Given the description of an element on the screen output the (x, y) to click on. 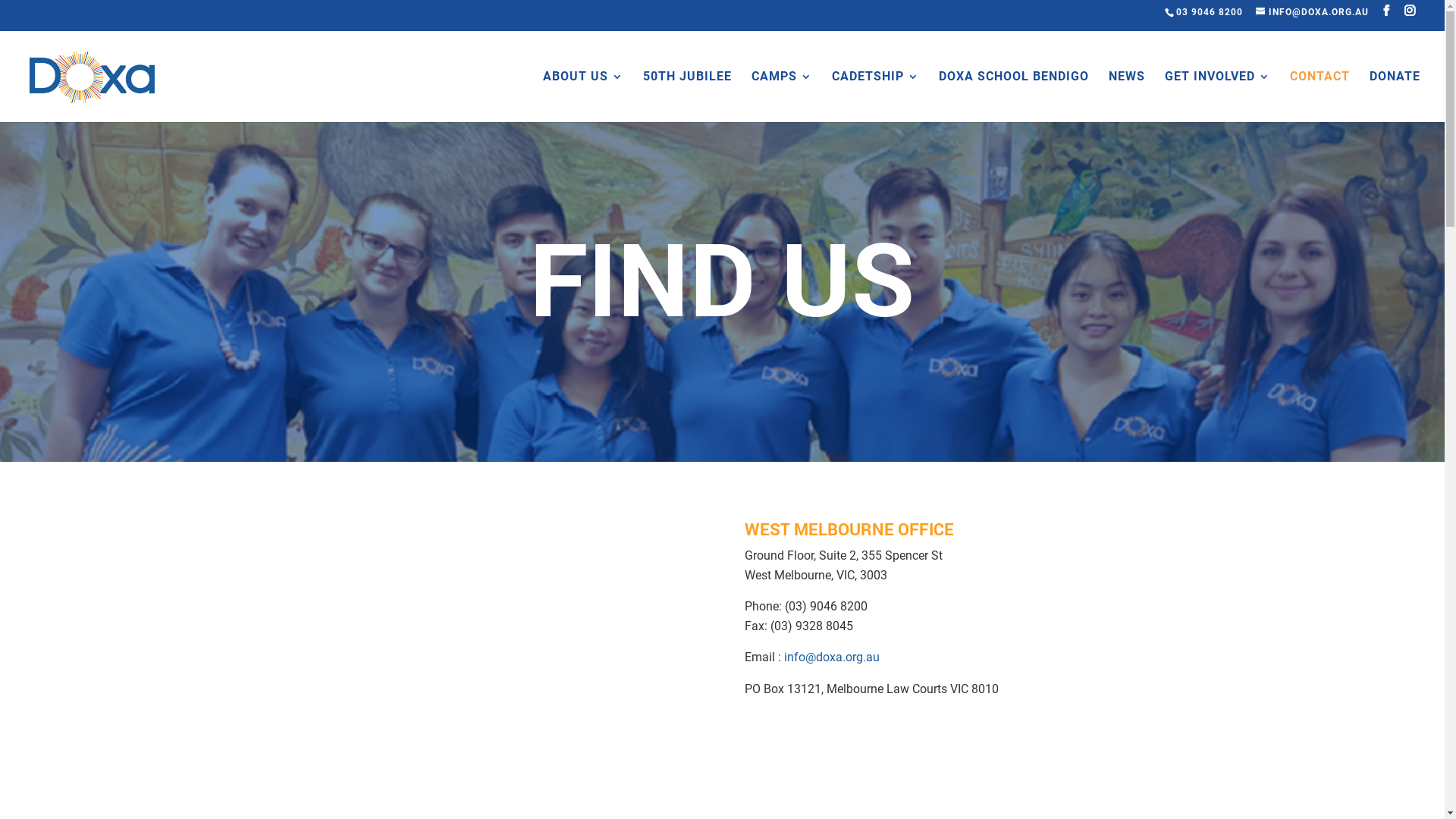
DOXA SCHOOL BENDIGO Element type: text (1013, 92)
NEWS Element type: text (1126, 92)
ABOUT US Element type: text (582, 92)
50TH JUBILEE Element type: text (687, 92)
INFO@DOXA.ORG.AU Element type: text (1311, 11)
DONATE Element type: text (1394, 92)
CADETSHIP Element type: text (875, 92)
GET INVOLVED Element type: text (1217, 92)
info@doxa.org.au Element type: text (831, 656)
CONTACT Element type: text (1319, 92)
CAMPS Element type: text (781, 92)
